Given the description of an element on the screen output the (x, y) to click on. 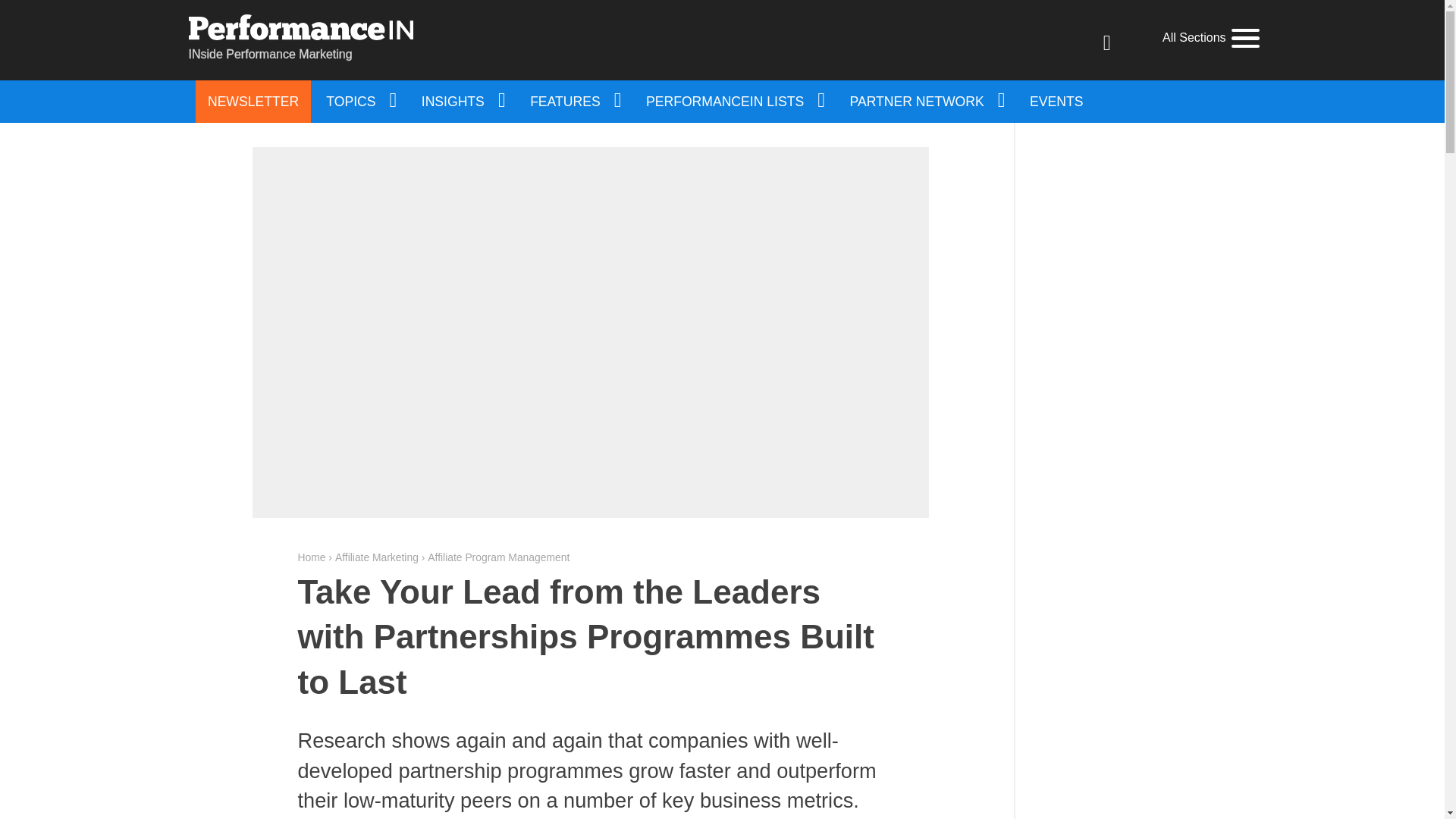
INside Performance Marketing (299, 38)
TOPICS (360, 101)
FEATURES (574, 101)
INSIGHTS (462, 101)
NEWSLETTER (253, 101)
EVENTS (1055, 101)
PARTNER NETWORK (926, 101)
PERFORMANCEIN LISTS (733, 101)
All Sections (1210, 38)
